Given the description of an element on the screen output the (x, y) to click on. 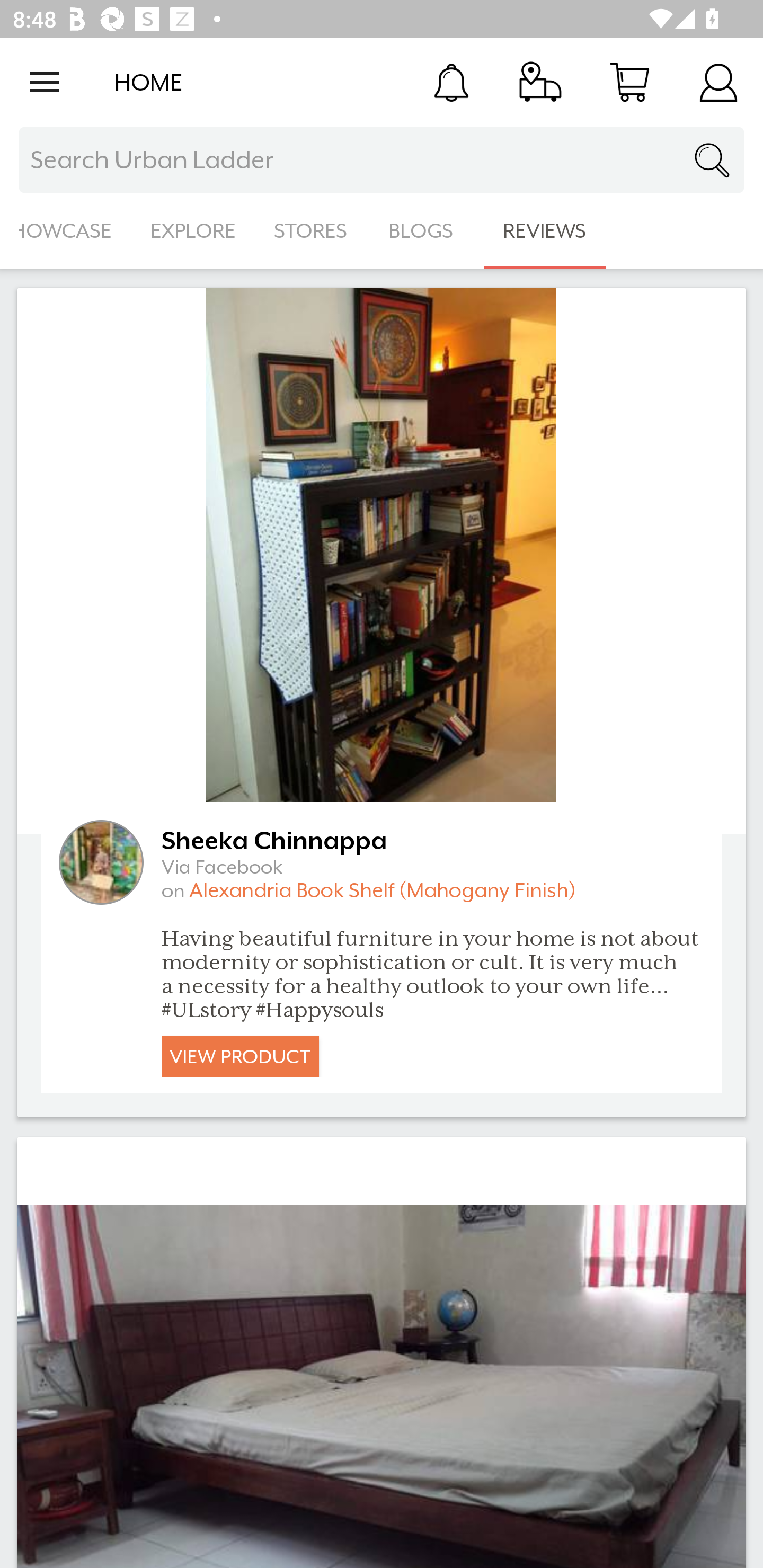
Open navigation drawer (44, 82)
Notification (450, 81)
Track Order (540, 81)
Cart (629, 81)
Account Details (718, 81)
Search Urban Ladder  (381, 159)
SHOWCASE (65, 230)
EXPLORE (192, 230)
STORES (311, 230)
BLOGS (426, 230)
REVIEWS (544, 230)
VIEW PRODUCT (239, 1056)
